Given the description of an element on the screen output the (x, y) to click on. 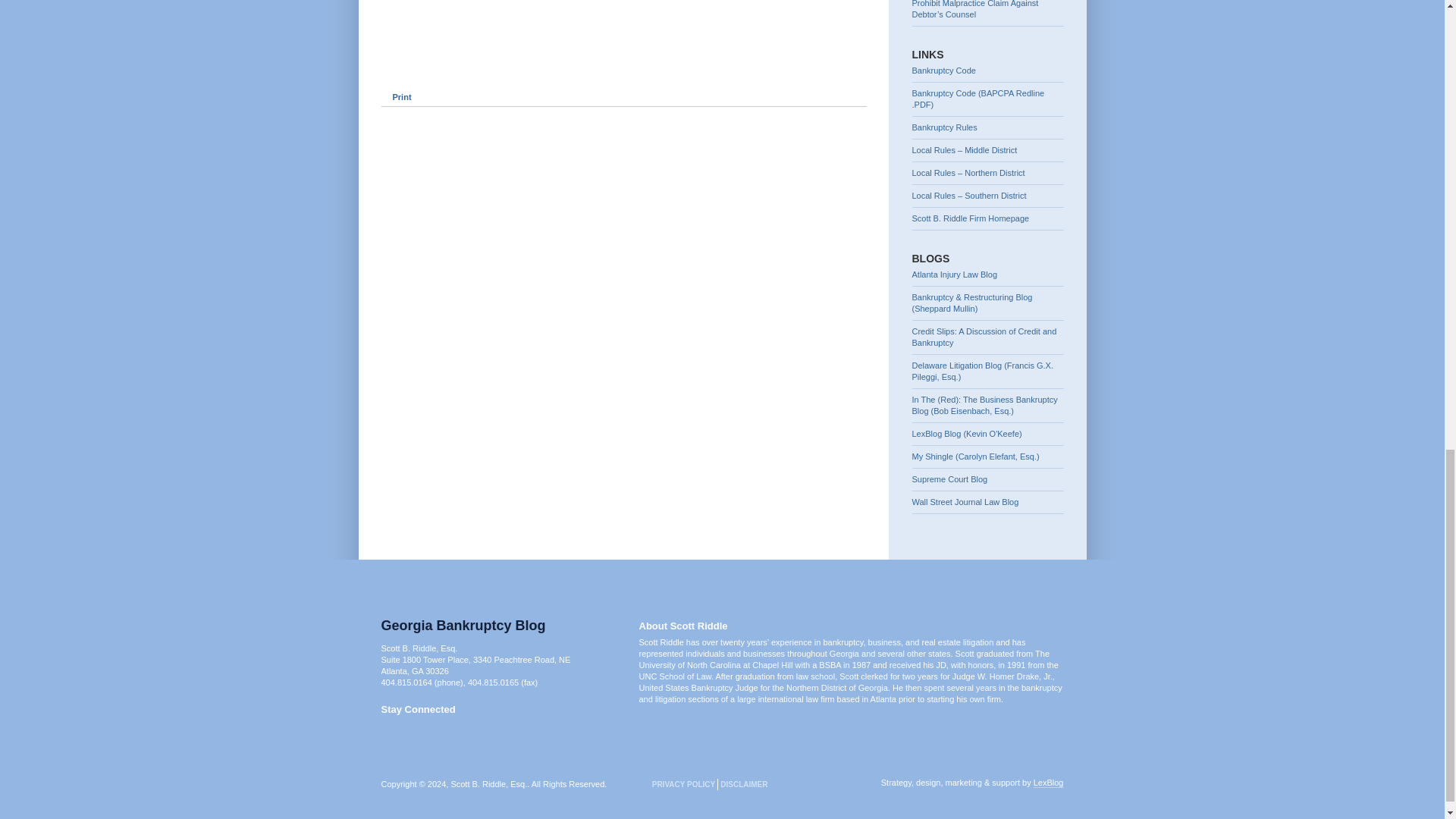
rss (401, 728)
Share this post on LinkedIn (562, 70)
Print (395, 96)
Tweet this post (404, 70)
linkedin (416, 728)
Email this post (509, 70)
Like this post (457, 70)
twitter (386, 728)
